Given the description of an element on the screen output the (x, y) to click on. 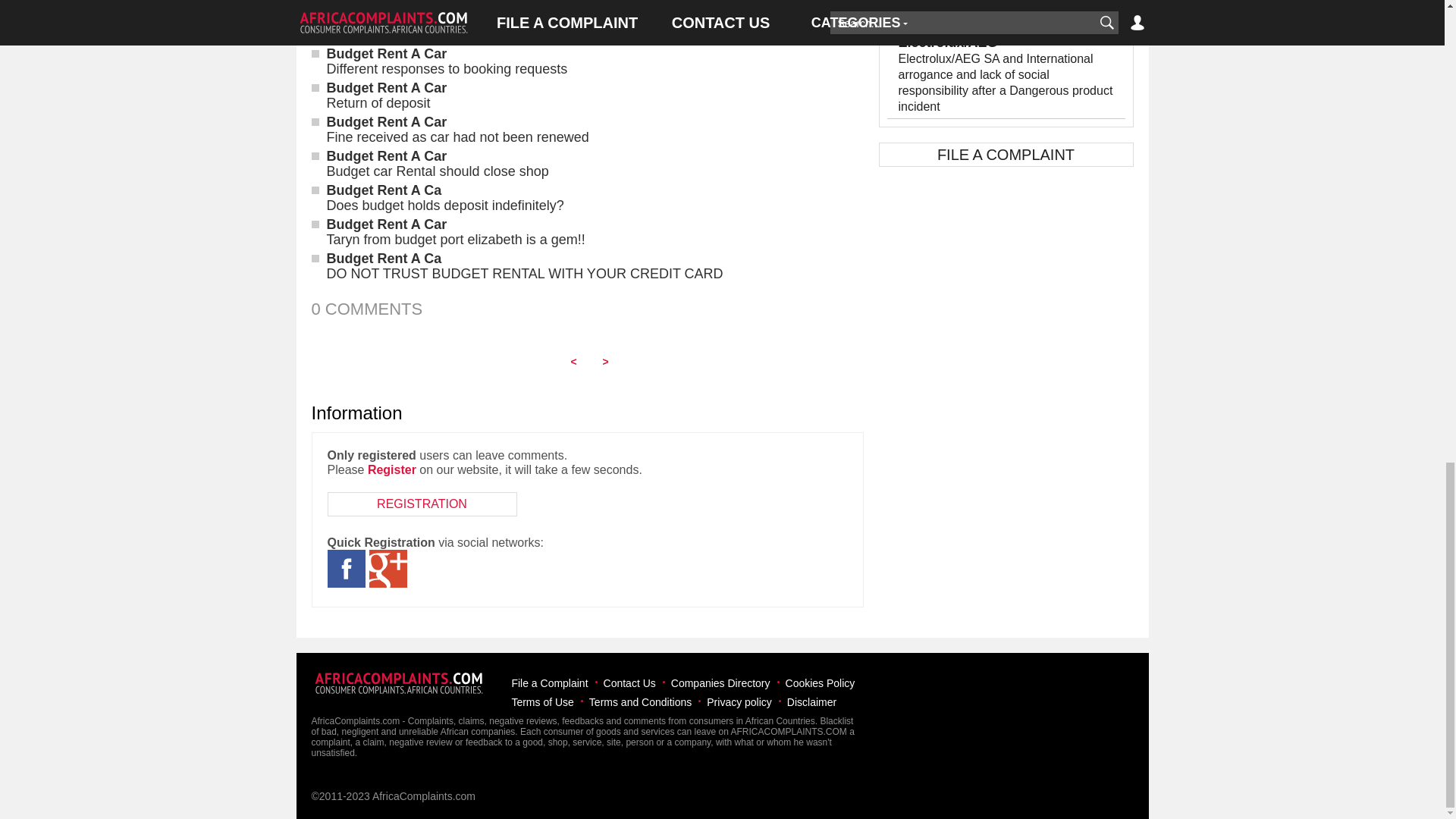
Login with Google (387, 568)
Login with Facebook (346, 568)
